Given the description of an element on the screen output the (x, y) to click on. 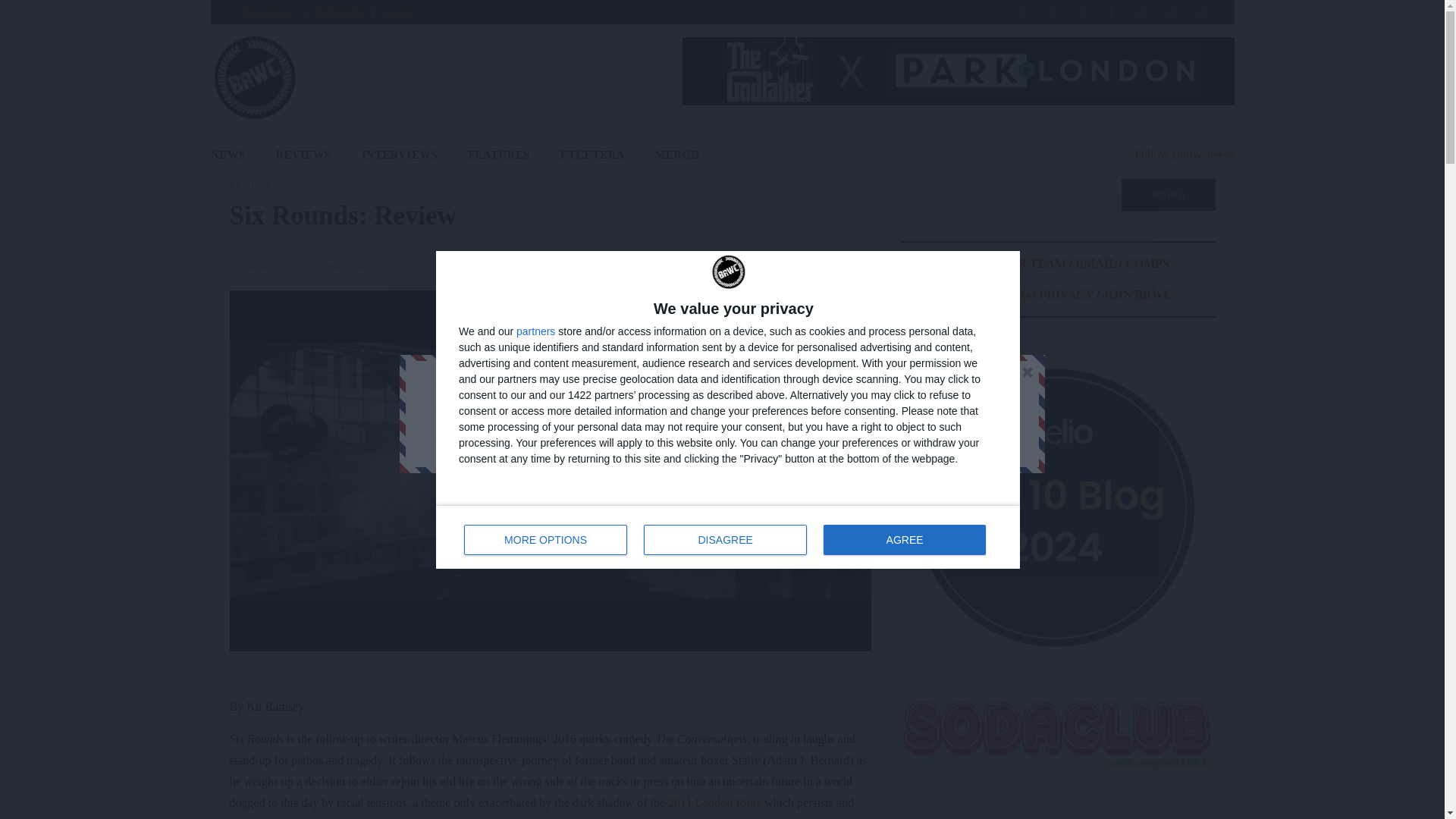
Log In (400, 11)
Search (727, 536)
subscribe to our newsletter (1168, 194)
FEATURES (643, 408)
INTERVIEWS (498, 154)
ETCETERA (399, 154)
DISAGREE (592, 154)
Blogarama (724, 539)
NEWS (267, 11)
MERCH (235, 154)
partners (677, 154)
Blogarama.com - Follow BRWC on Blogarama (535, 330)
AGREE (267, 11)
Subscribe (904, 539)
